Given the description of an element on the screen output the (x, y) to click on. 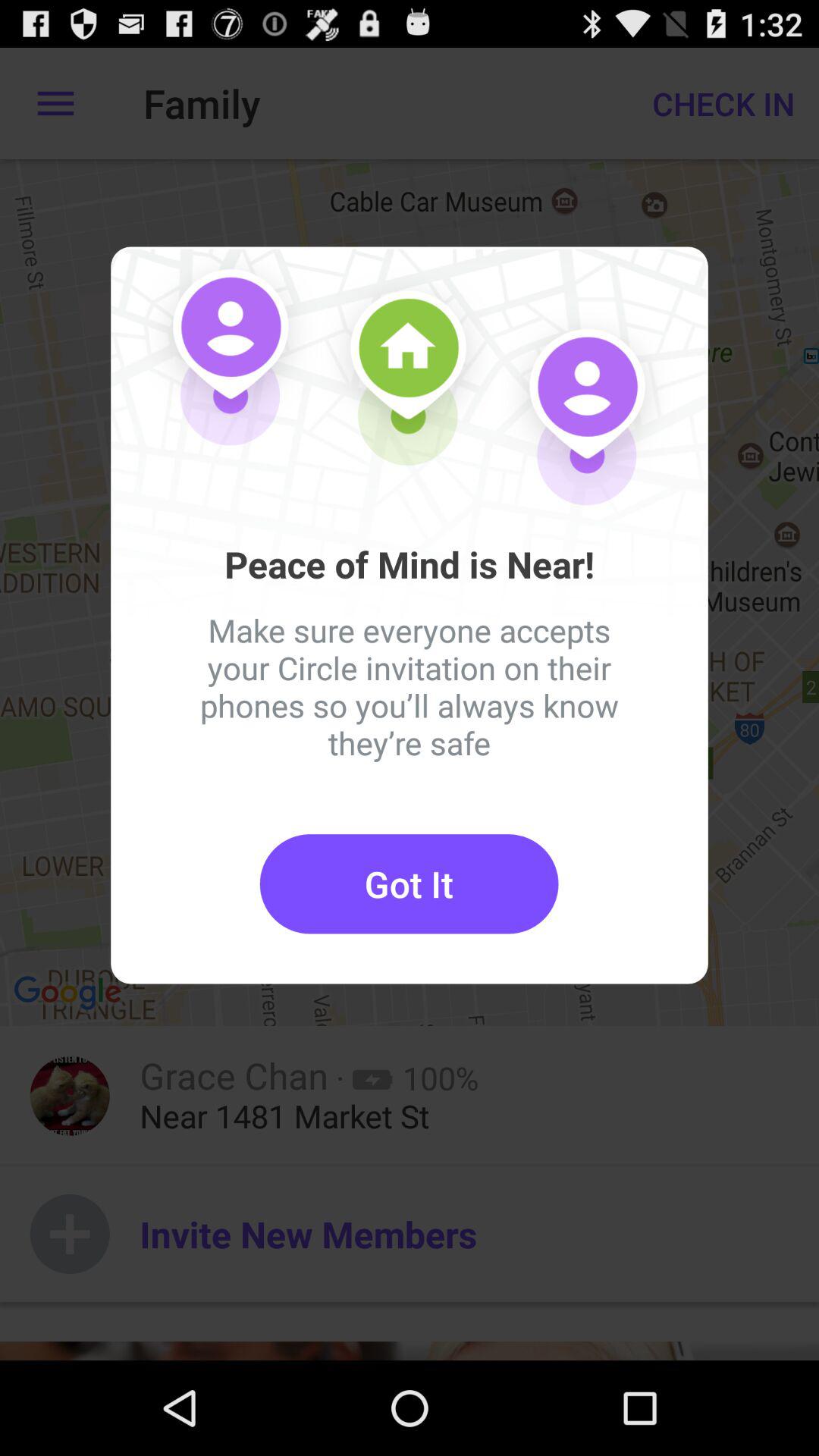
flip until got it item (408, 883)
